Given the description of an element on the screen output the (x, y) to click on. 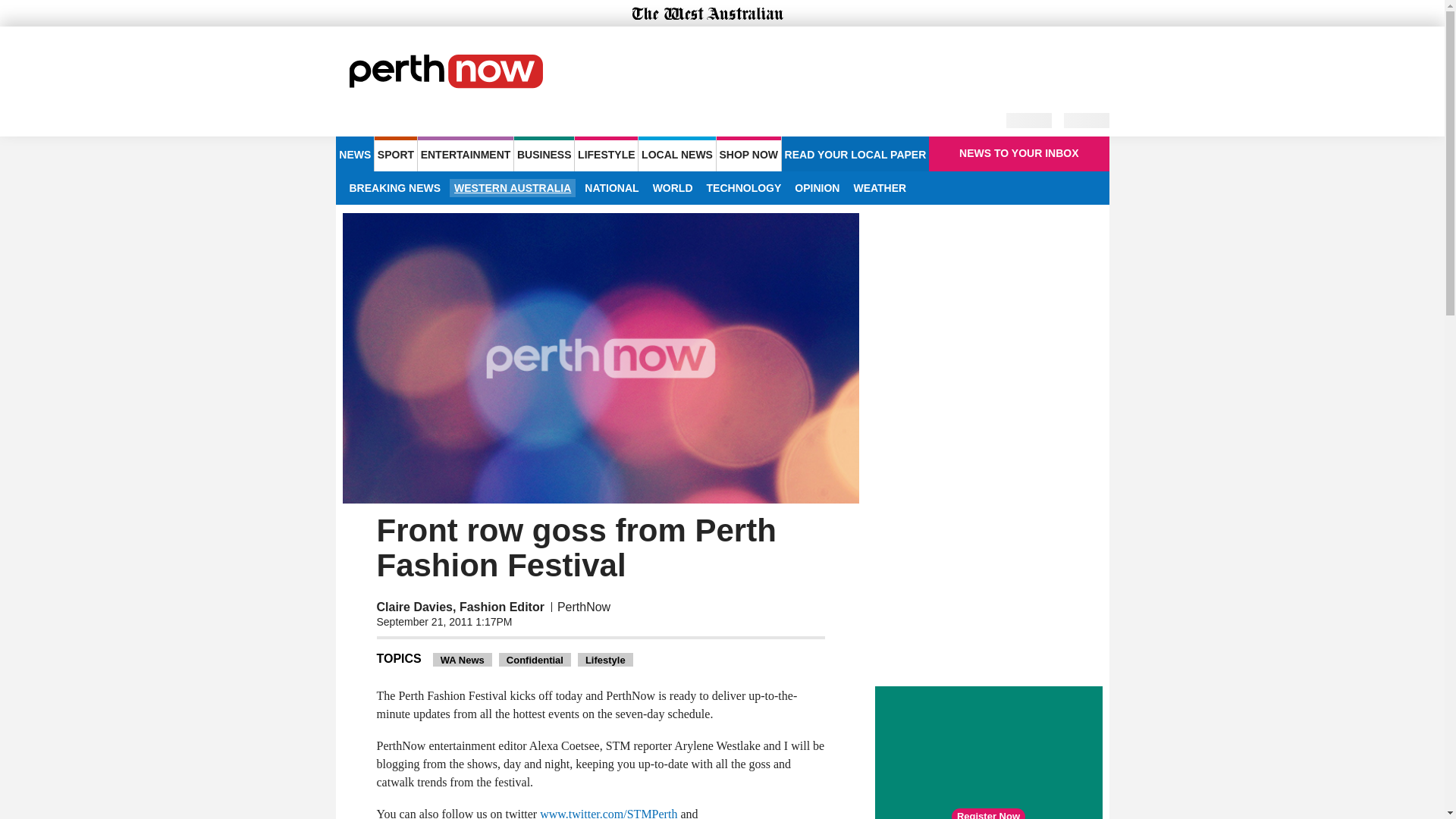
BUSINESS (543, 153)
NEWS (354, 153)
SPORT (395, 153)
ENTERTAINMENT (465, 153)
